Given the description of an element on the screen output the (x, y) to click on. 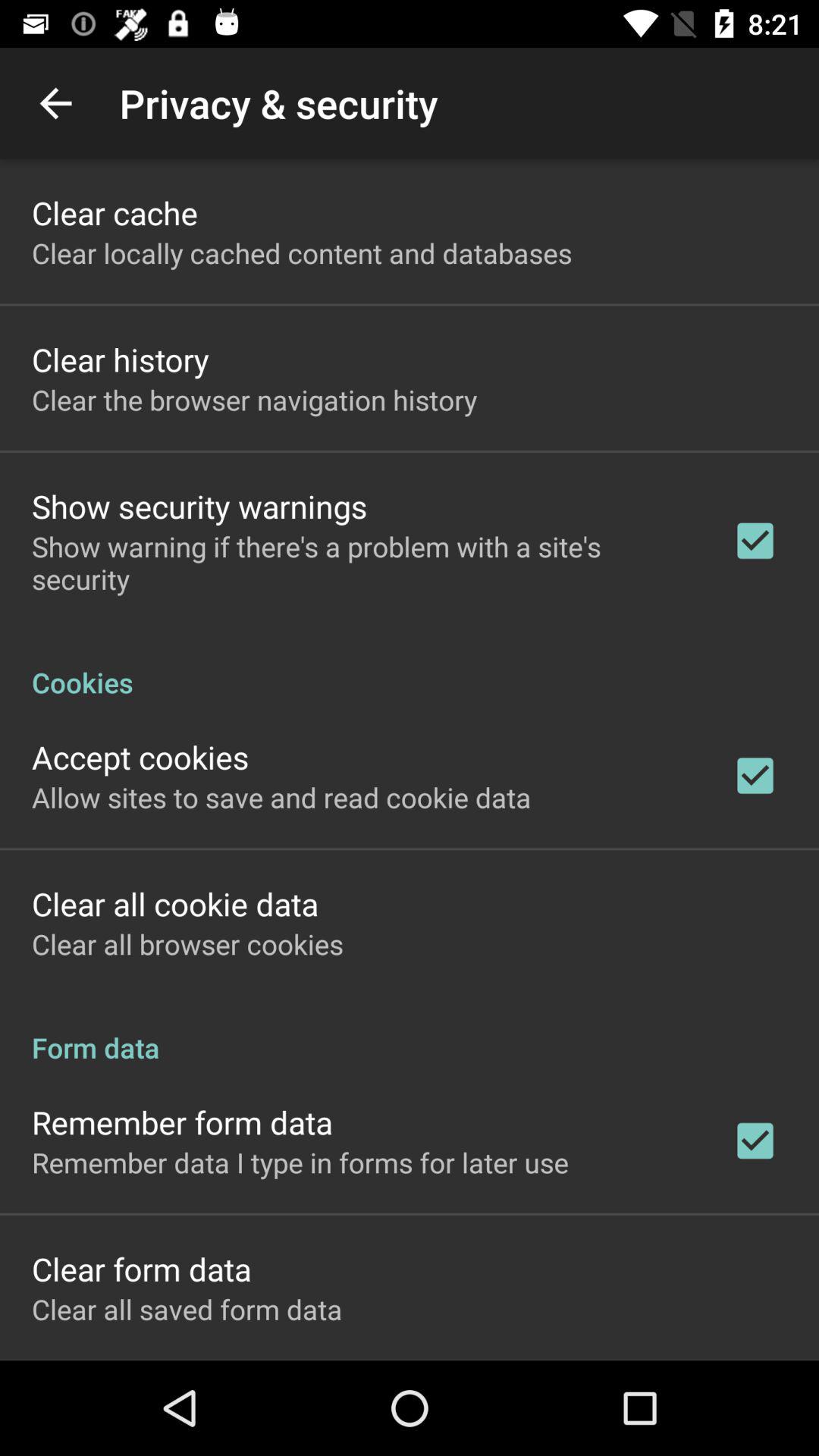
turn on icon above allow sites to item (140, 756)
